Given the description of an element on the screen output the (x, y) to click on. 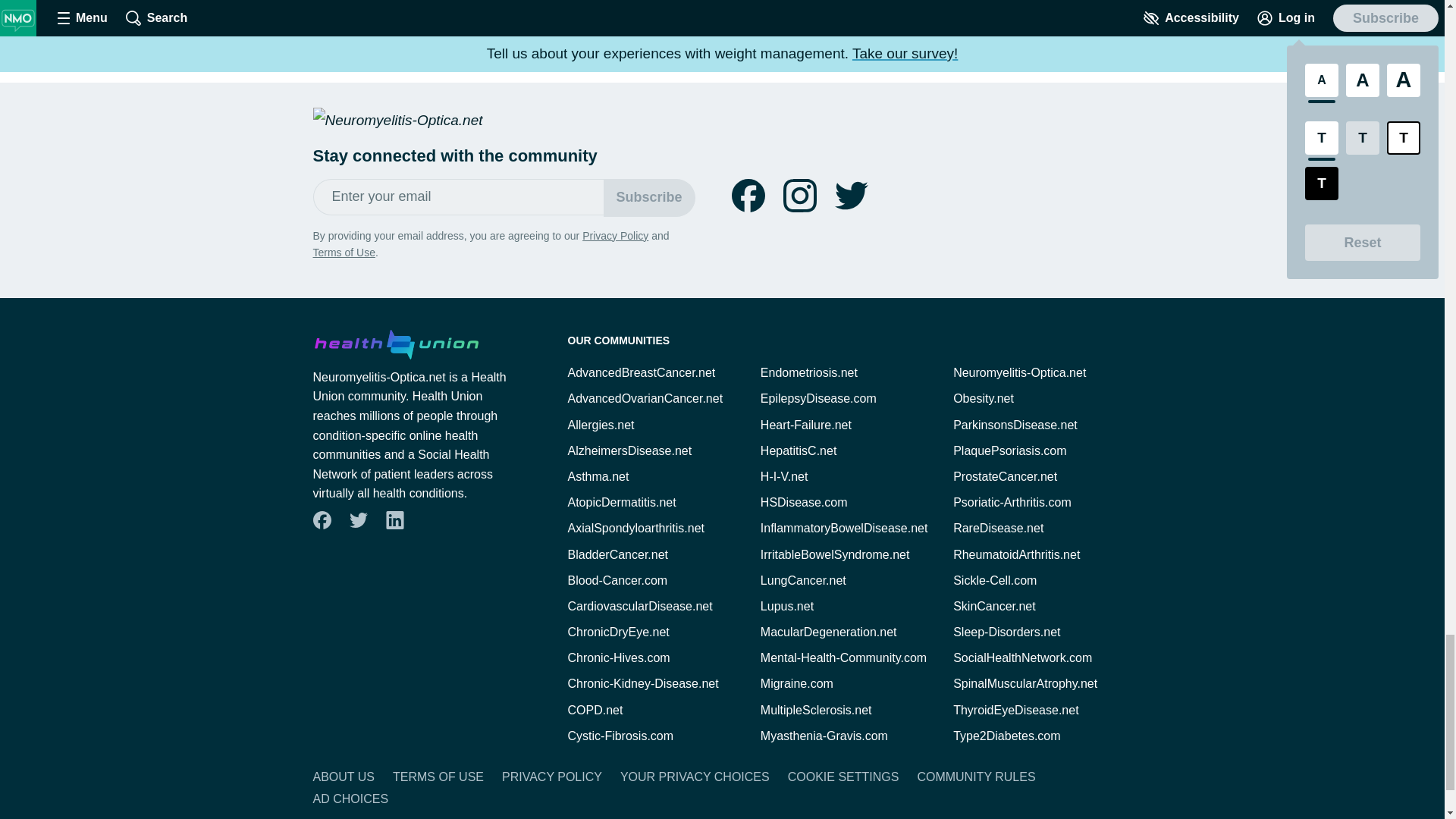
Follow us on twitter (850, 195)
Follow us on facebook (747, 195)
Follow us on instagram (799, 195)
